Given the description of an element on the screen output the (x, y) to click on. 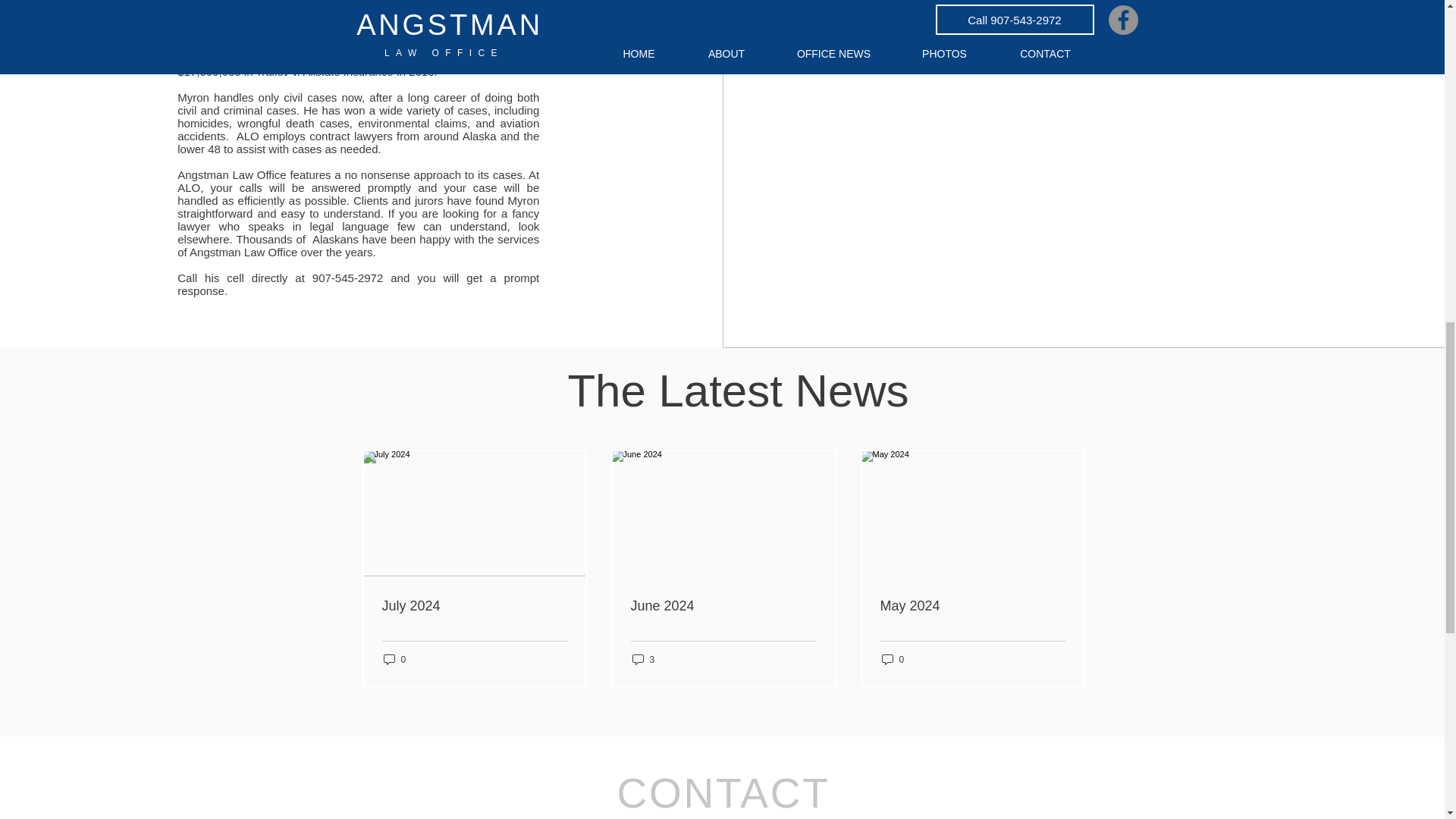
May 2024 (971, 605)
July 2024 (474, 605)
3 (643, 658)
0 (394, 658)
0 (892, 658)
June 2024 (723, 605)
